Given the description of an element on the screen output the (x, y) to click on. 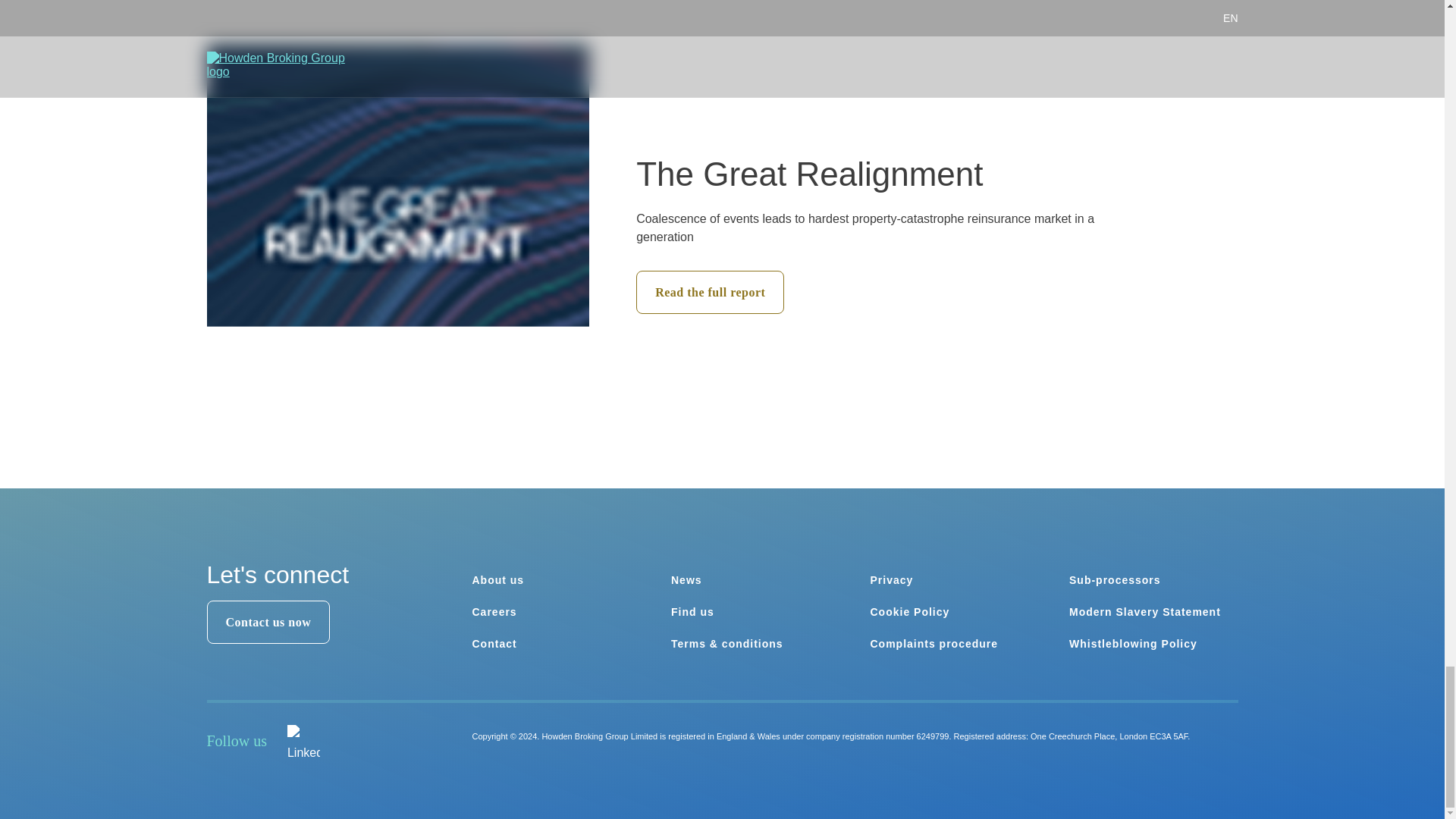
Whistleblowing Policy (1132, 644)
Modern Slavery Statement (1144, 612)
Careers (493, 612)
Complaints procedure (934, 644)
Privacy (892, 580)
Cookie Policy (910, 612)
Sub-processors (1114, 580)
Find us (692, 612)
News (686, 580)
About us (497, 580)
Contact (493, 644)
